Given the description of an element on the screen output the (x, y) to click on. 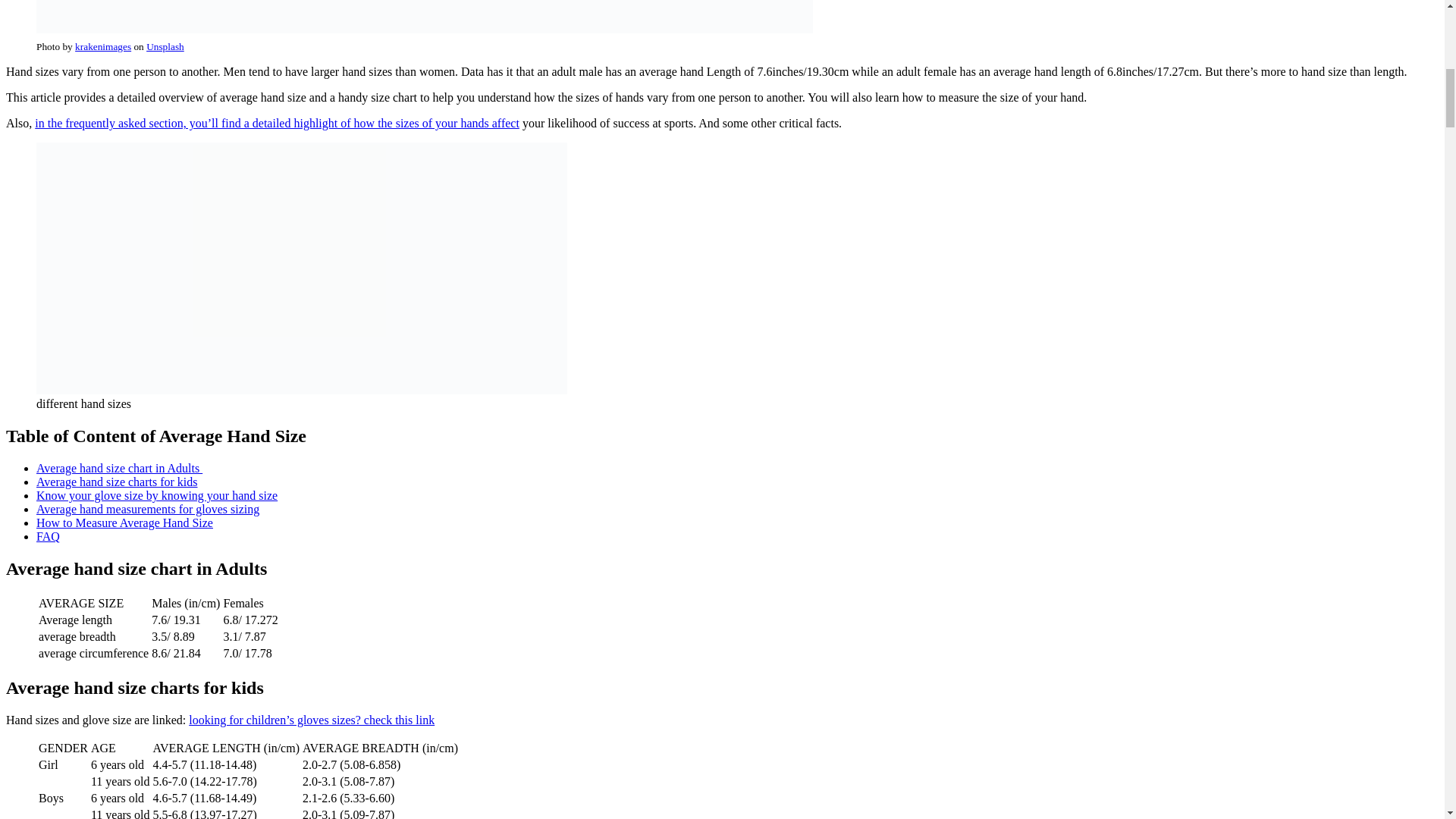
krakenimages (103, 46)
Average hand measurements for gloves sizing (147, 508)
How to Measure Average Hand Size (124, 522)
Average hand size chart in Adults  (119, 468)
Average hand size charts for kids (117, 481)
Know your glove size by knowing your hand size (157, 495)
Unsplash (165, 46)
FAQ (47, 535)
different hand sizes (301, 267)
